Given the description of an element on the screen output the (x, y) to click on. 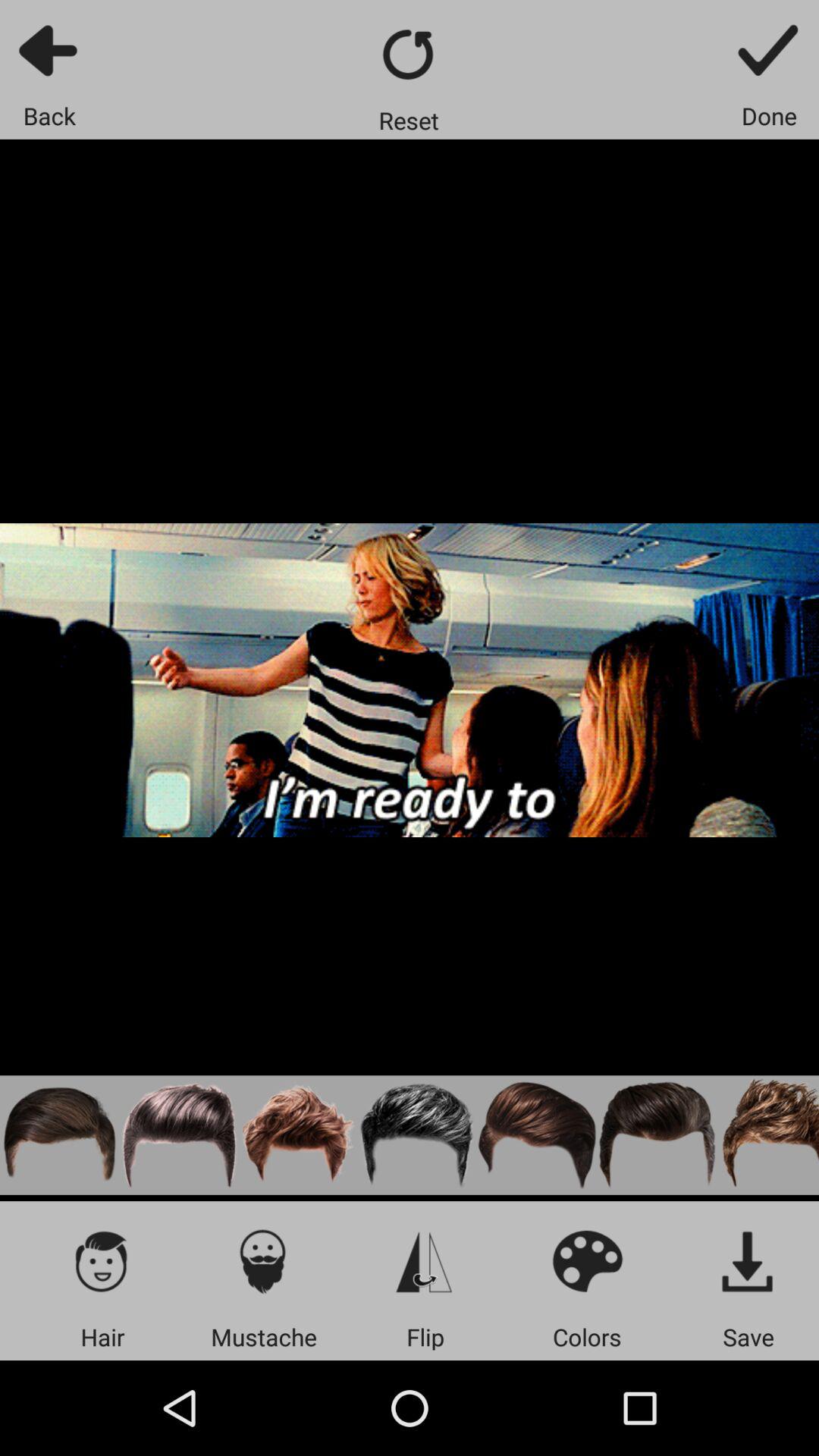
add wig on pic of your face (178, 1134)
